Given the description of an element on the screen output the (x, y) to click on. 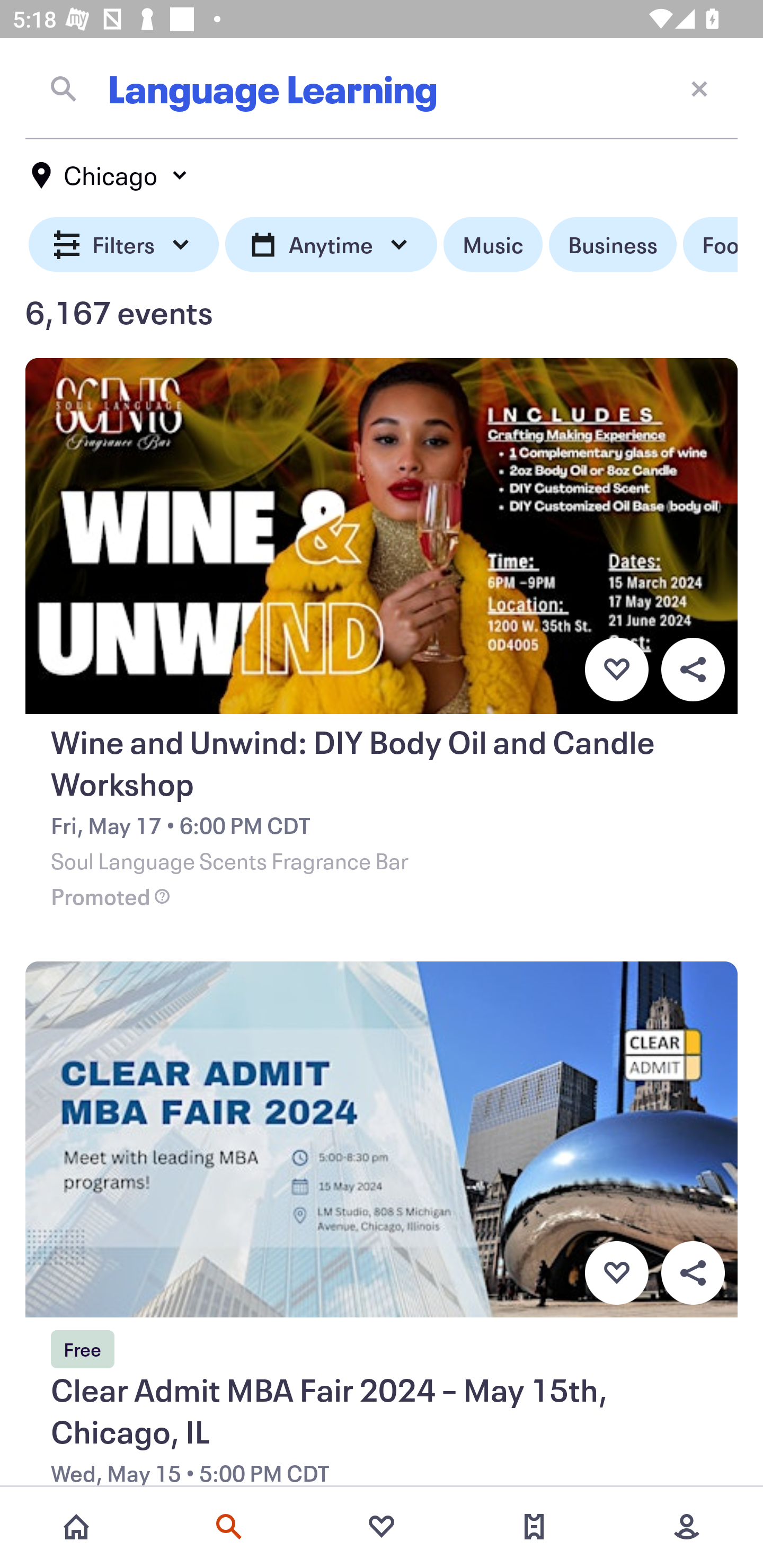
Language Learning Close current screen (381, 88)
Close current screen (699, 88)
Chicago (110, 175)
Filters (123, 244)
Anytime (331, 244)
Music (492, 244)
Business (612, 244)
Favorite button (616, 669)
Overflow menu button (692, 669)
Favorite button (616, 1272)
Overflow menu button (692, 1272)
Home (76, 1526)
Search events (228, 1526)
Favorites (381, 1526)
Tickets (533, 1526)
More (686, 1526)
